Given the description of an element on the screen output the (x, y) to click on. 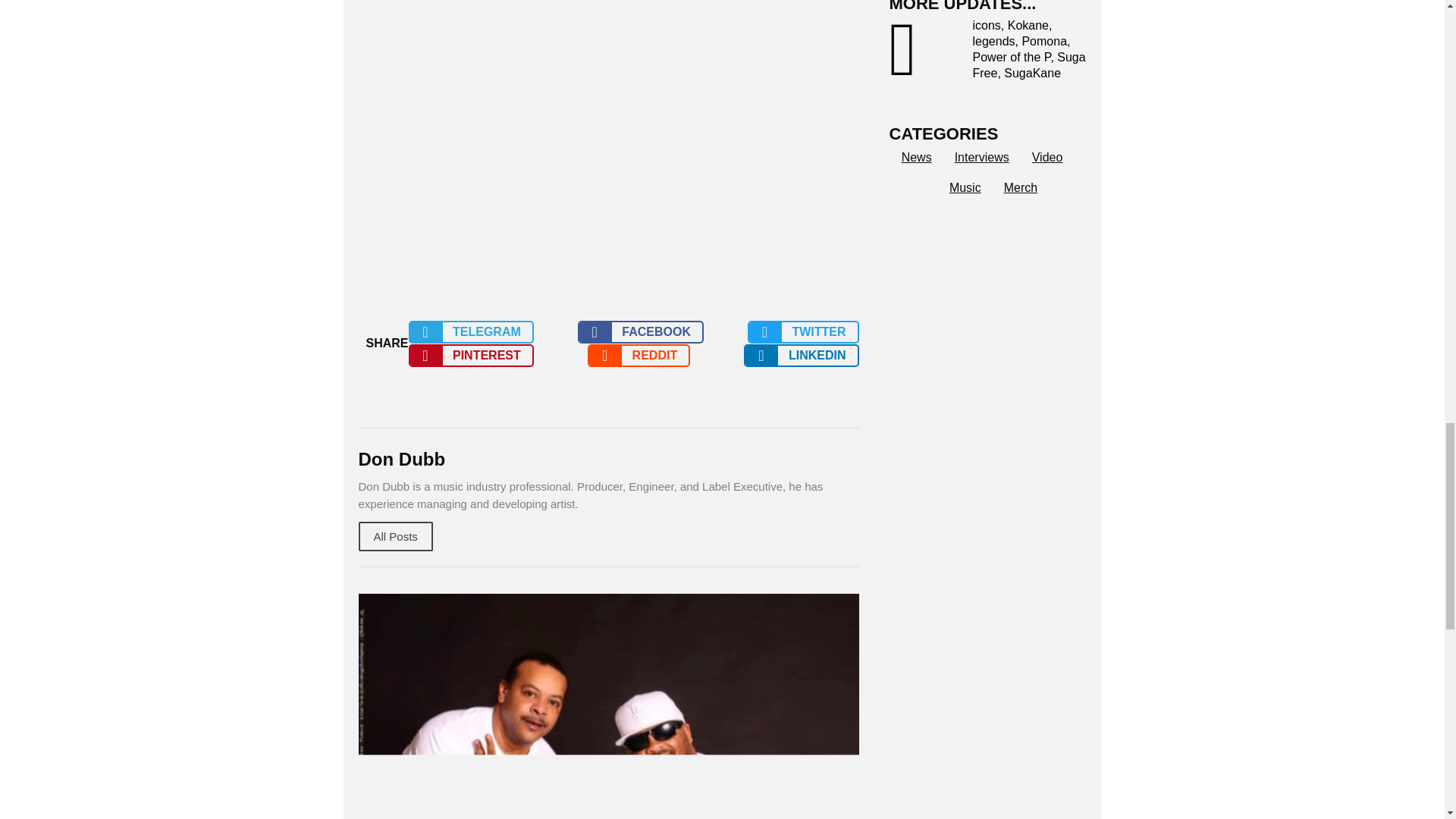
Don Dubb (608, 459)
legends (993, 41)
All Posts (395, 536)
Kokane (1027, 24)
Power of the P (1010, 56)
Pomona (1044, 41)
icons (986, 24)
Suga Free (1028, 64)
